Given the description of an element on the screen output the (x, y) to click on. 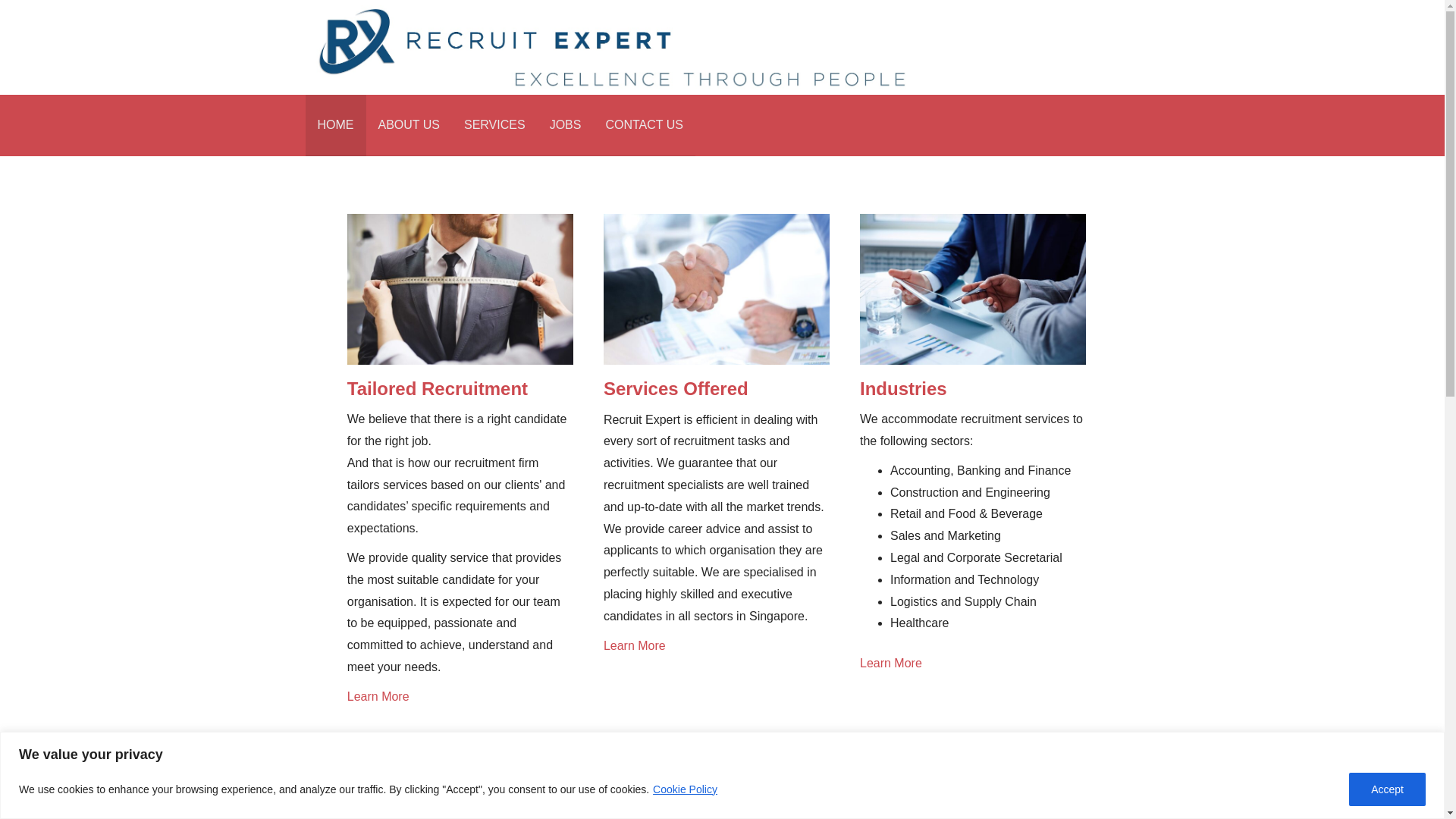
Tailored Recruitment (437, 388)
Cookie Policy (684, 789)
CONTACT US (643, 125)
Learn More (973, 663)
qtq80-hHEsXA (716, 288)
qtq80-6JBeIx (909, 801)
qtq80-RyJksL (973, 288)
Learn More (460, 697)
SERVICES (494, 125)
HOME (334, 125)
Industries (903, 388)
Services Offered (676, 388)
JOBS (565, 125)
Accept (1387, 788)
Learn More (716, 646)
